Given the description of an element on the screen output the (x, y) to click on. 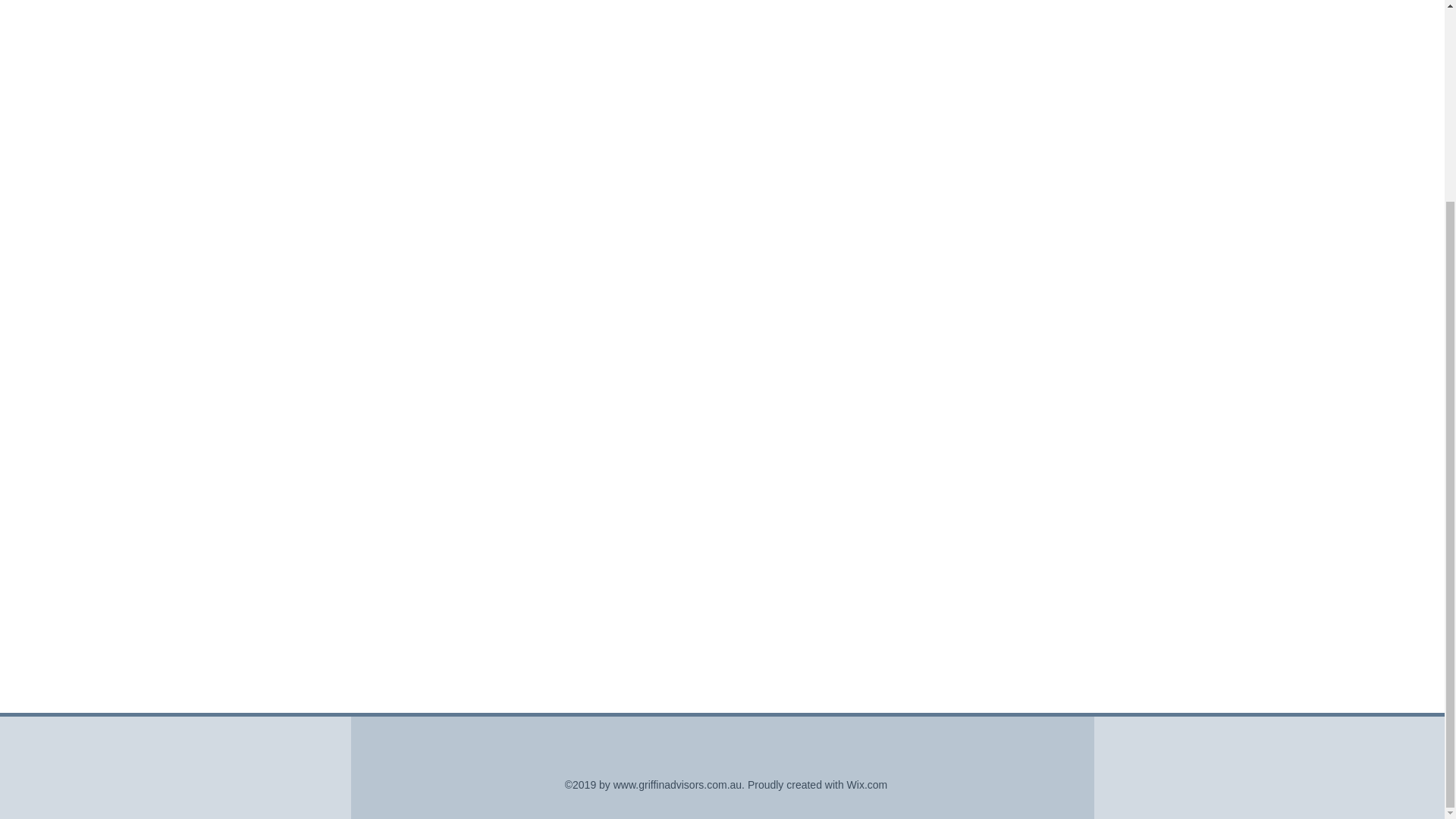
www.griffinadvisors.com.au (676, 784)
